Given the description of an element on the screen output the (x, y) to click on. 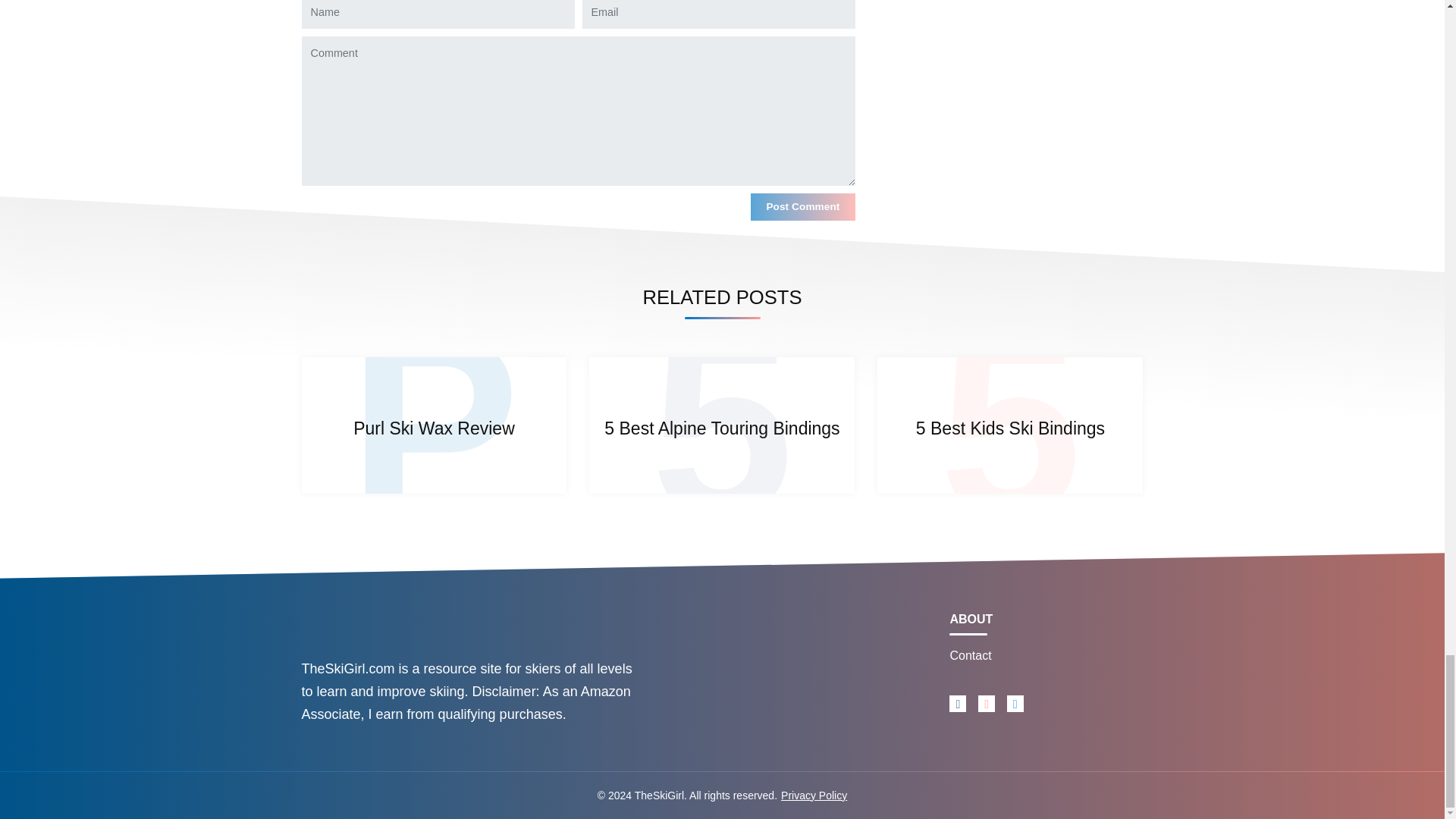
Post Comment (802, 206)
